Given the description of an element on the screen output the (x, y) to click on. 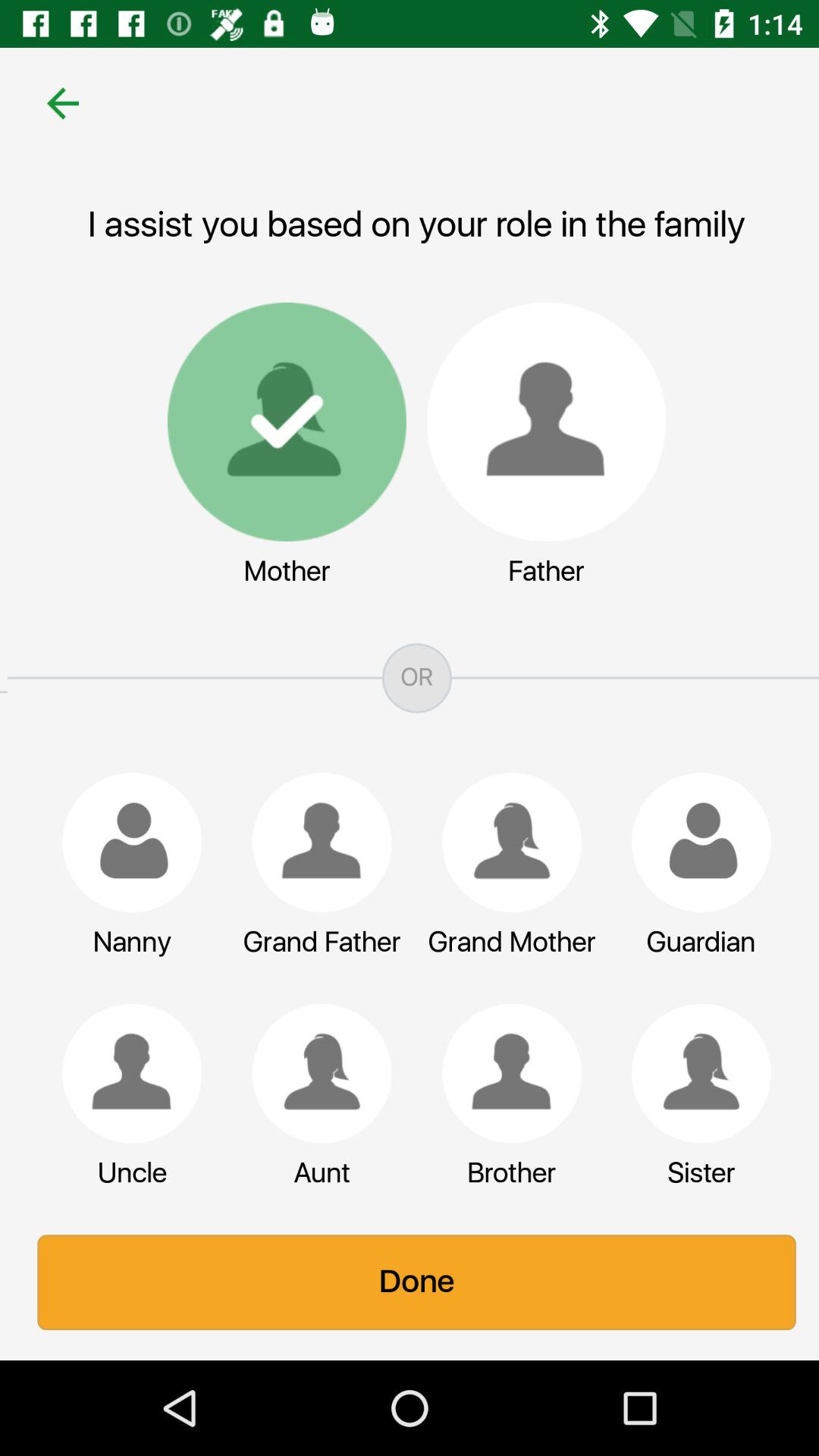
click nanny (124, 842)
